Given the description of an element on the screen output the (x, y) to click on. 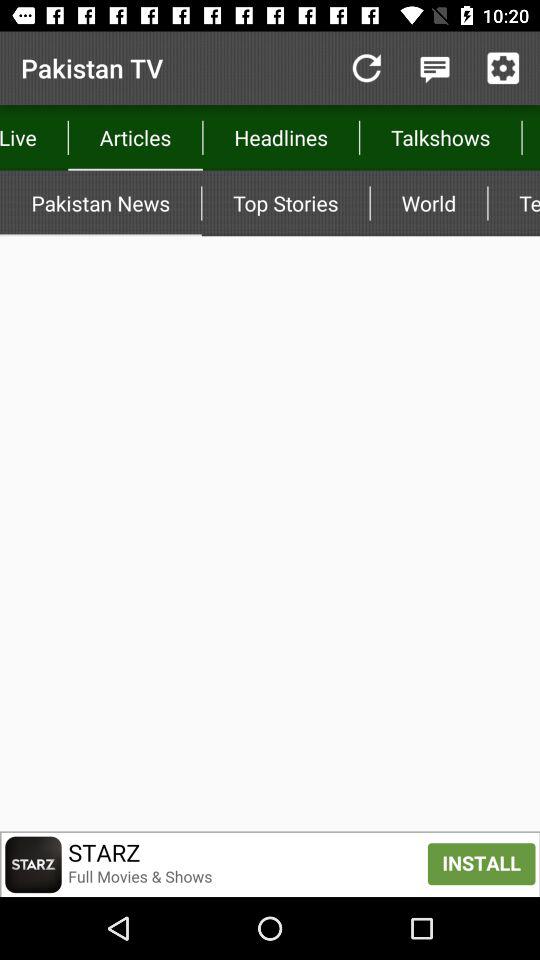
turn off the app next to pakistan news item (285, 203)
